Given the description of an element on the screen output the (x, y) to click on. 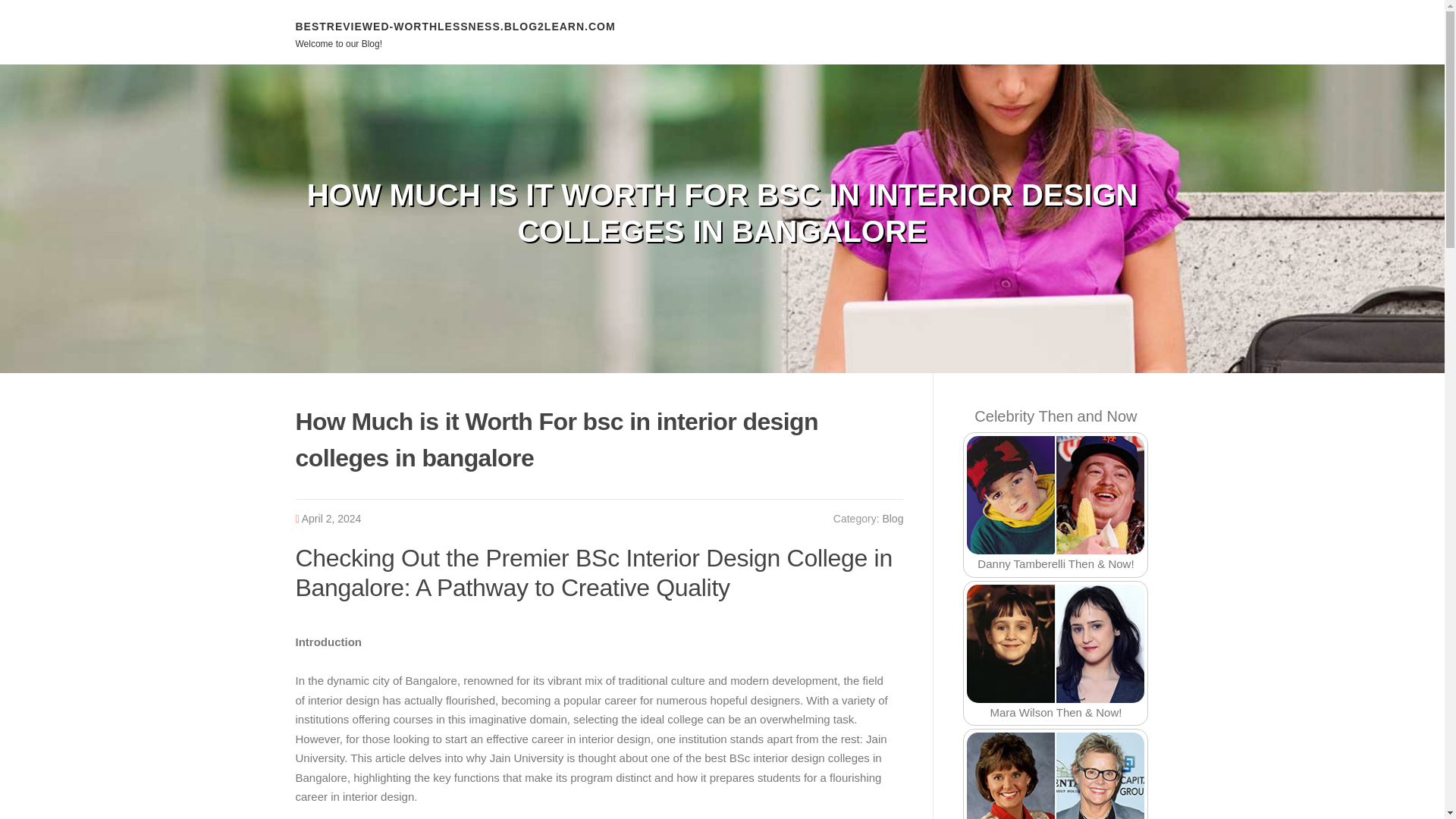
BESTREVIEWED-WORTHLESSNESS.BLOG2LEARN.COM (455, 25)
Skip to content (37, 9)
Blog (892, 518)
April 2, 2024 (331, 518)
